Given the description of an element on the screen output the (x, y) to click on. 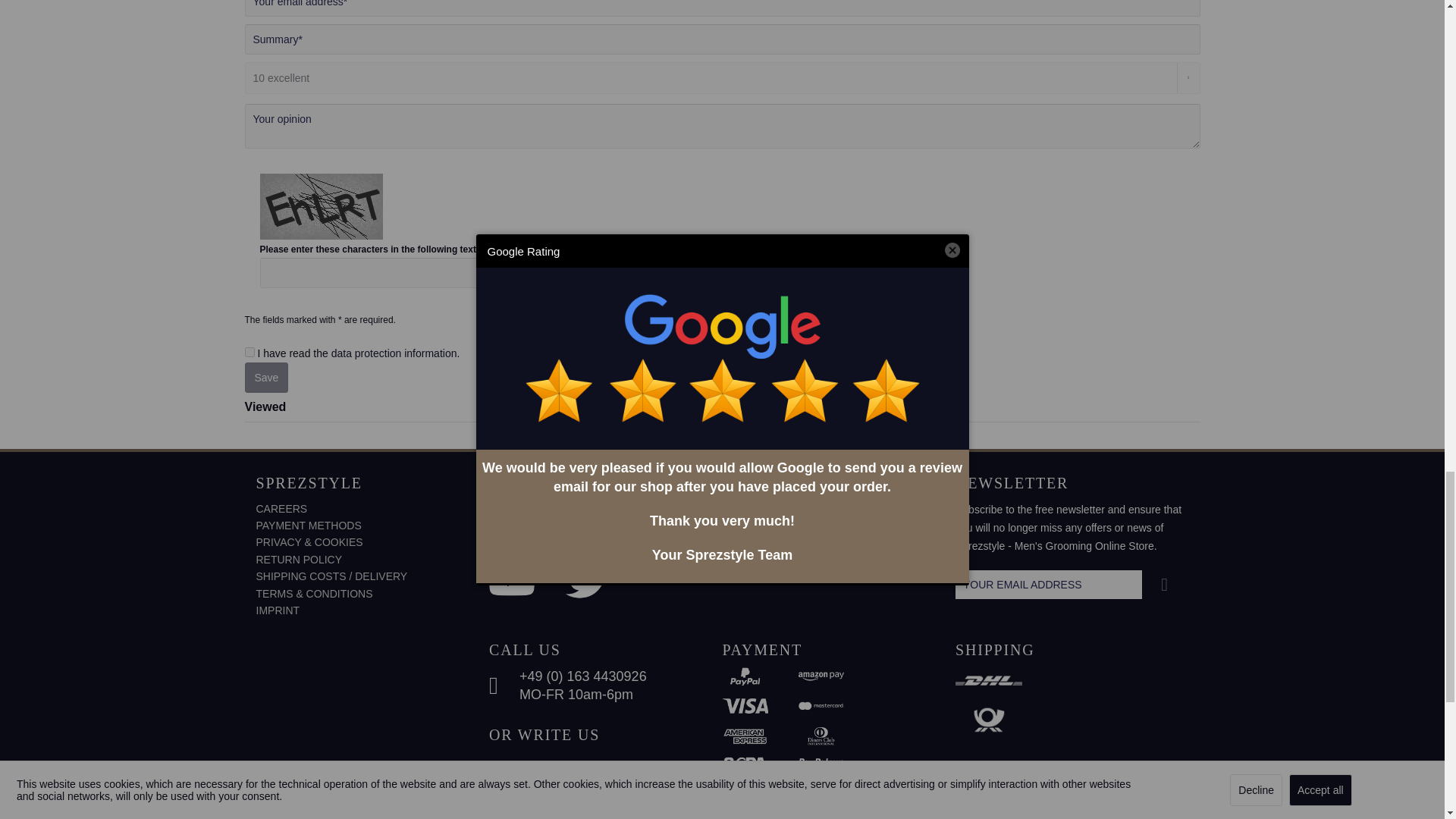
1 (248, 352)
